Given the description of an element on the screen output the (x, y) to click on. 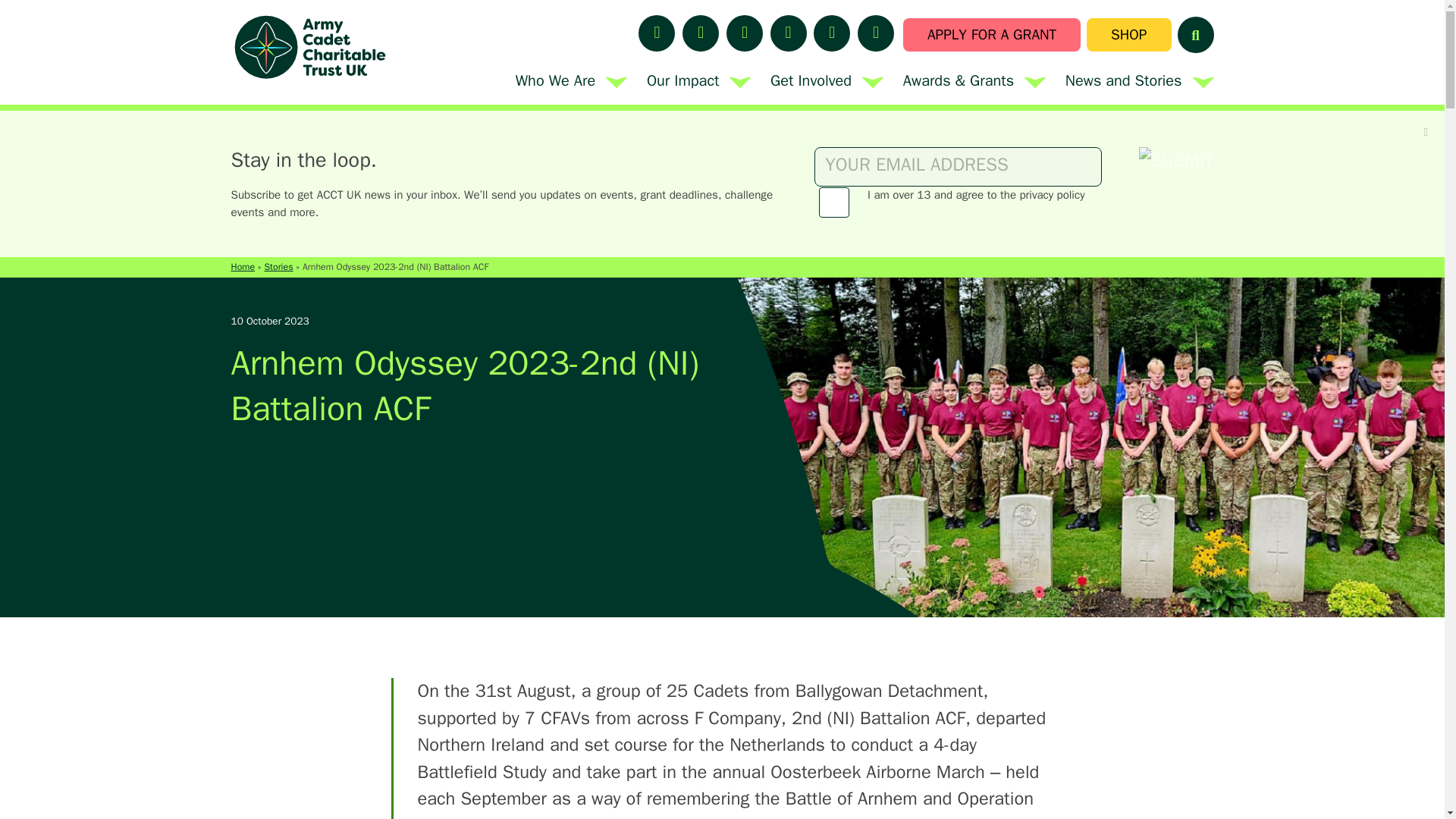
Instagram (788, 33)
YouTube (831, 33)
APPLY FOR A GRANT (991, 35)
SHOP (1128, 35)
Facebook (657, 33)
Contact us (875, 33)
Twitter (700, 33)
YouTube (831, 33)
LinkedIn (698, 80)
Facebook (744, 33)
LinkedIn (657, 33)
Twitter (571, 80)
Contact us (744, 33)
